Given the description of an element on the screen output the (x, y) to click on. 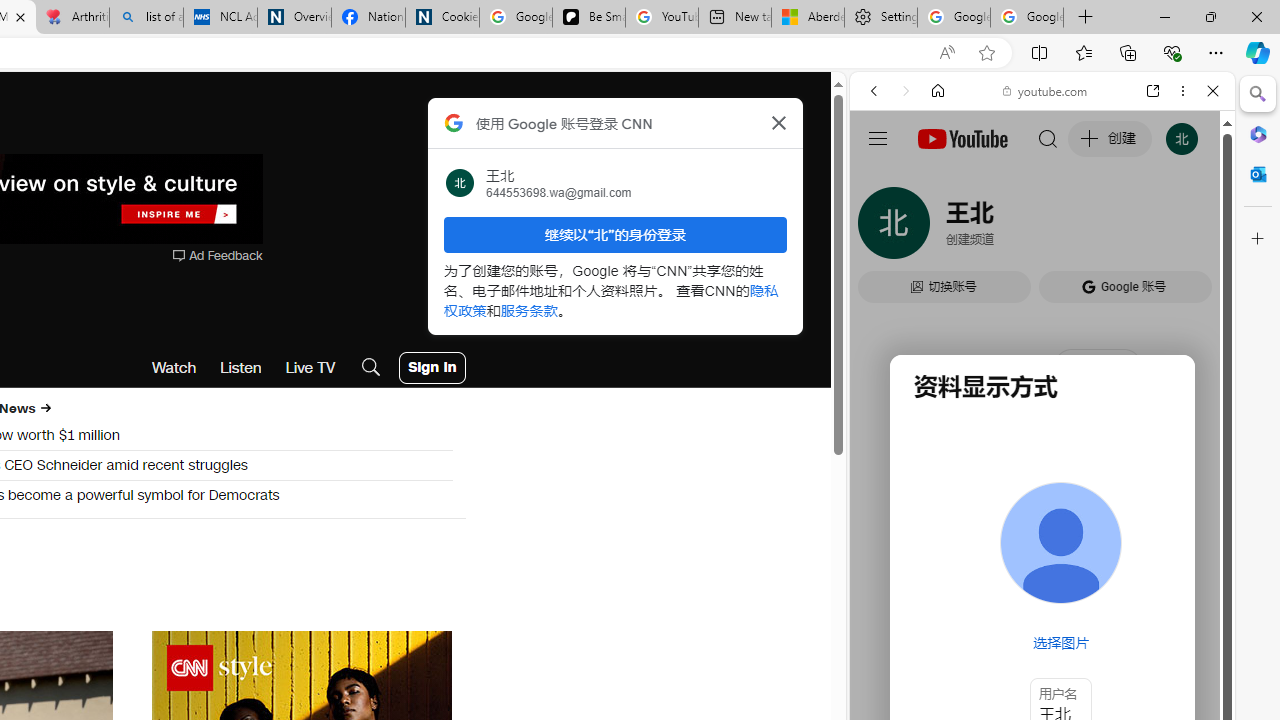
Live TV (310, 367)
Trailer #2 [HD] (1042, 594)
Watch (174, 367)
This site scope (936, 180)
Class: b_serphb (1190, 229)
list of asthma inhalers uk - Search (146, 17)
Music (1042, 543)
